Given the description of an element on the screen output the (x, y) to click on. 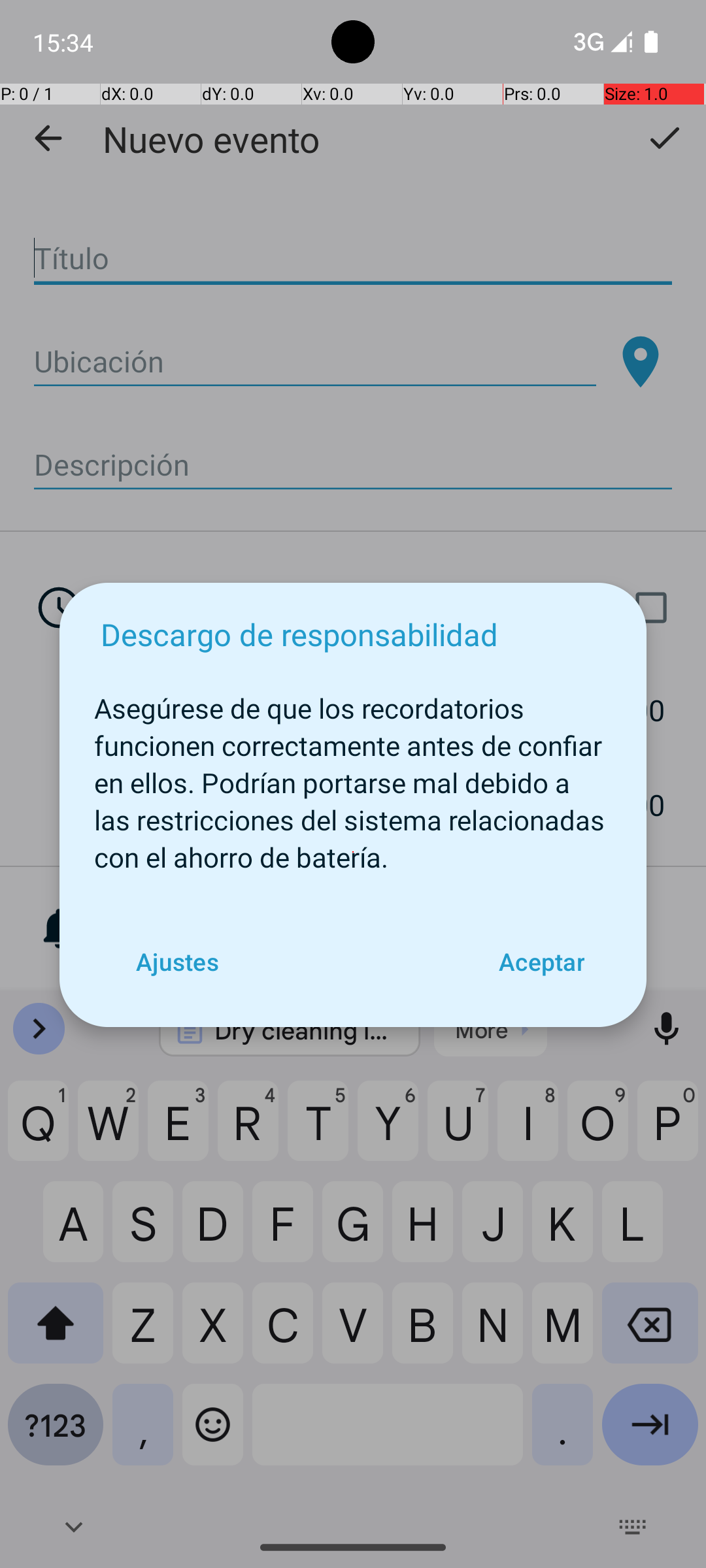
Descargo de responsabilidad Element type: android.widget.TextView (299, 633)
Asegúrese de que los recordatorios funcionen correctamente antes de confiar en ellos. Podrían portarse mal debido a las restricciones del sistema relacionadas con el ahorro de batería. Element type: android.widget.TextView (352, 775)
Aceptar Element type: android.widget.Button (541, 961)
